Given the description of an element on the screen output the (x, y) to click on. 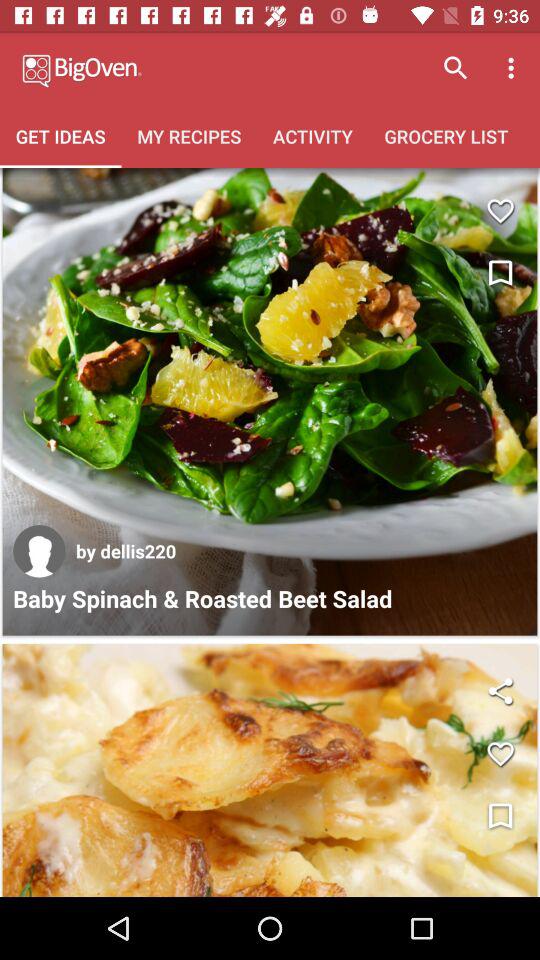
press icon above baby spinach roasted icon (39, 551)
